Given the description of an element on the screen output the (x, y) to click on. 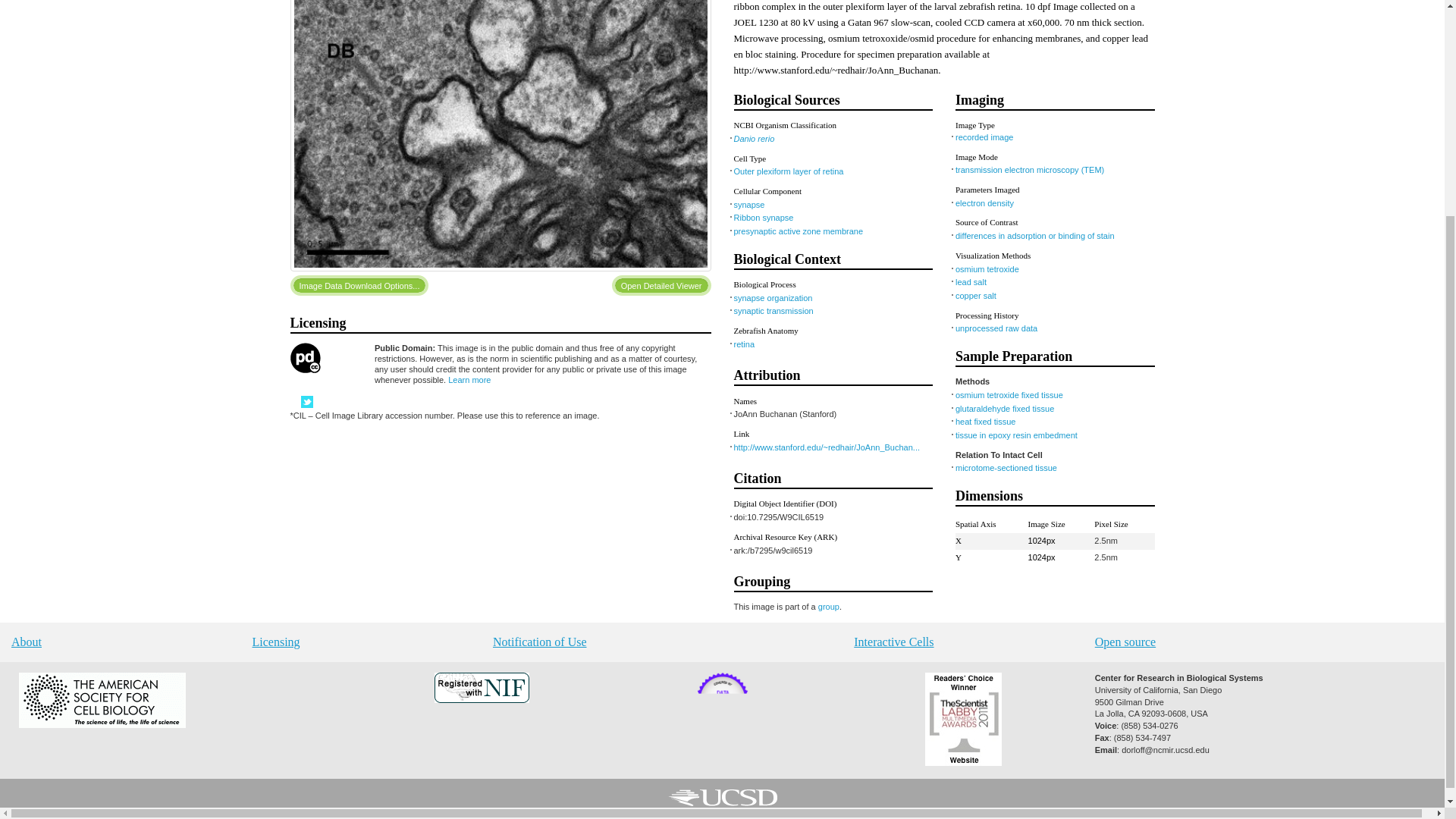
Danio rerio (753, 138)
group (829, 605)
synapse (749, 204)
retina (744, 343)
synaptic transmission (773, 310)
synapse organization (772, 297)
recorded image (984, 136)
presynaptic active zone membrane (798, 230)
ZFA:0000152 (744, 343)
Ribbon synapse (763, 216)
